Given the description of an element on the screen output the (x, y) to click on. 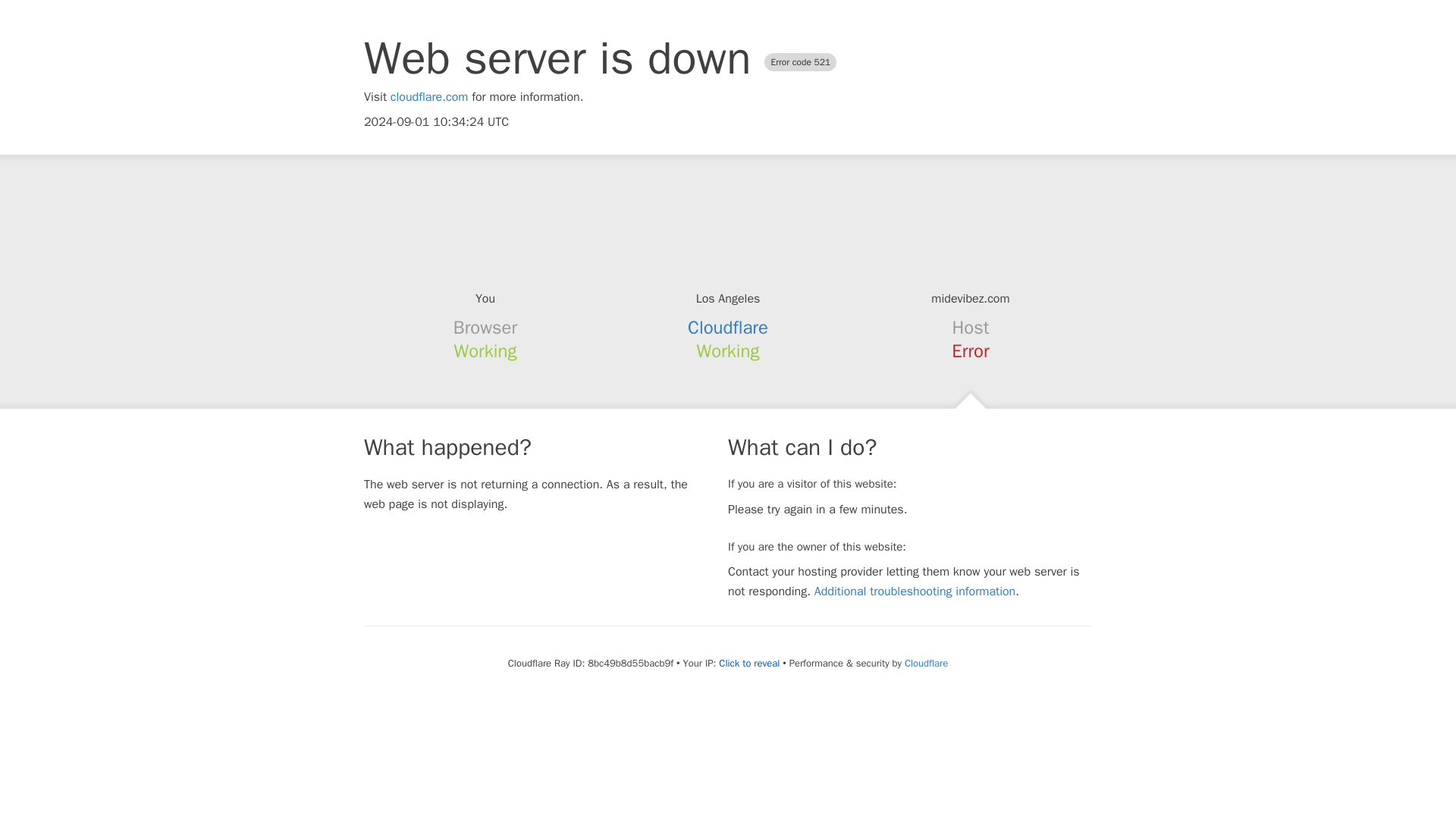
Click to reveal (748, 663)
Cloudflare (727, 327)
Additional troubleshooting information (913, 590)
cloudflare.com (429, 96)
Cloudflare (925, 662)
